Given the description of an element on the screen output the (x, y) to click on. 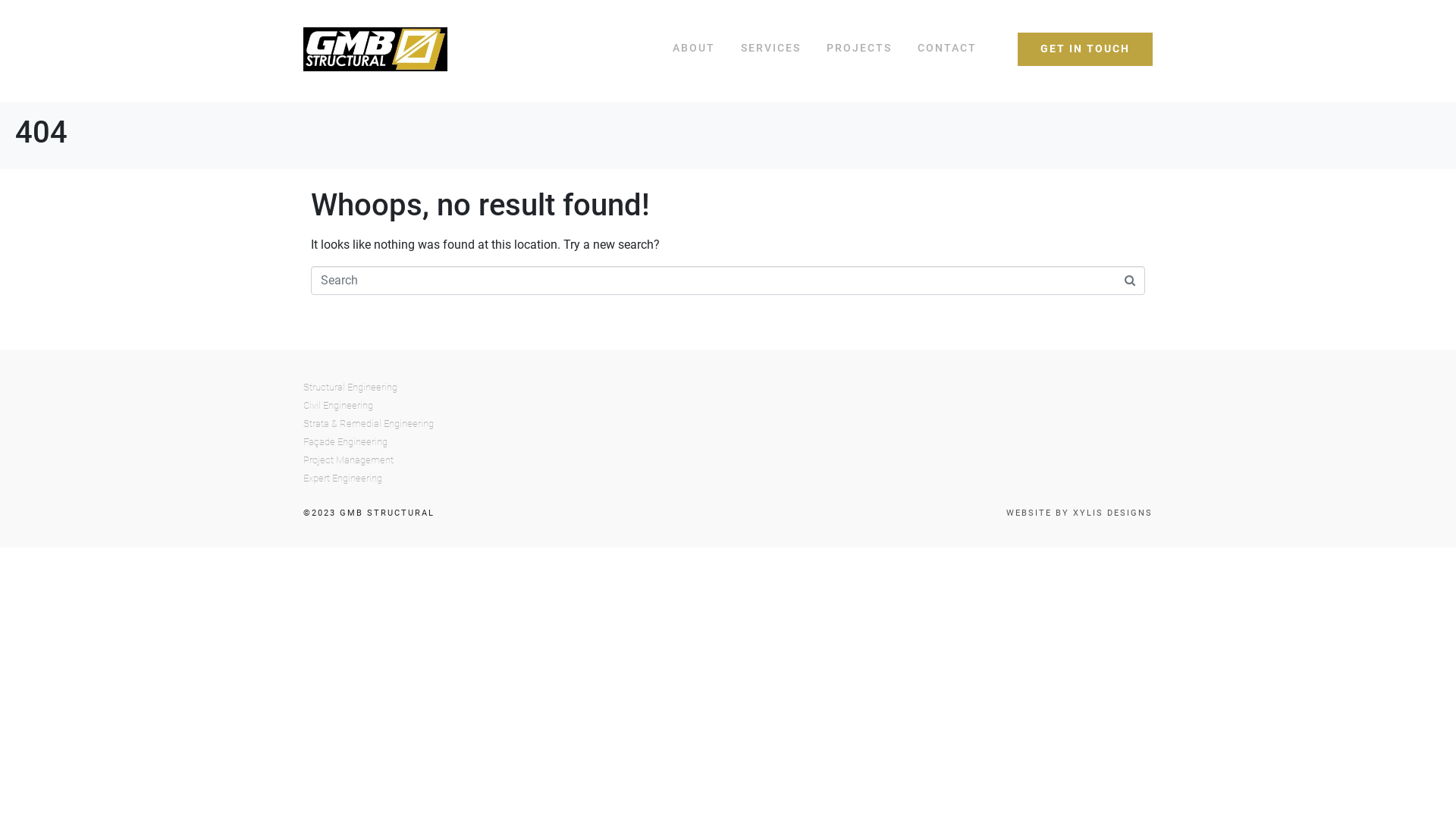
CONTACT Element type: text (946, 48)
WEBSITE BY XYLIS DESIGNS Element type: text (1079, 512)
GET IN TOUCH Element type: text (1084, 48)
PROJECTS Element type: text (858, 48)
Expert Engineering Element type: text (727, 478)
Project Management Element type: text (727, 459)
Structural Engineering Element type: text (727, 387)
Civil Engineering Element type: text (727, 405)
SERVICES Element type: text (770, 48)
Strata & Remedial Engineering Element type: text (727, 423)
ABOUT Element type: text (693, 48)
